Given the description of an element on the screen output the (x, y) to click on. 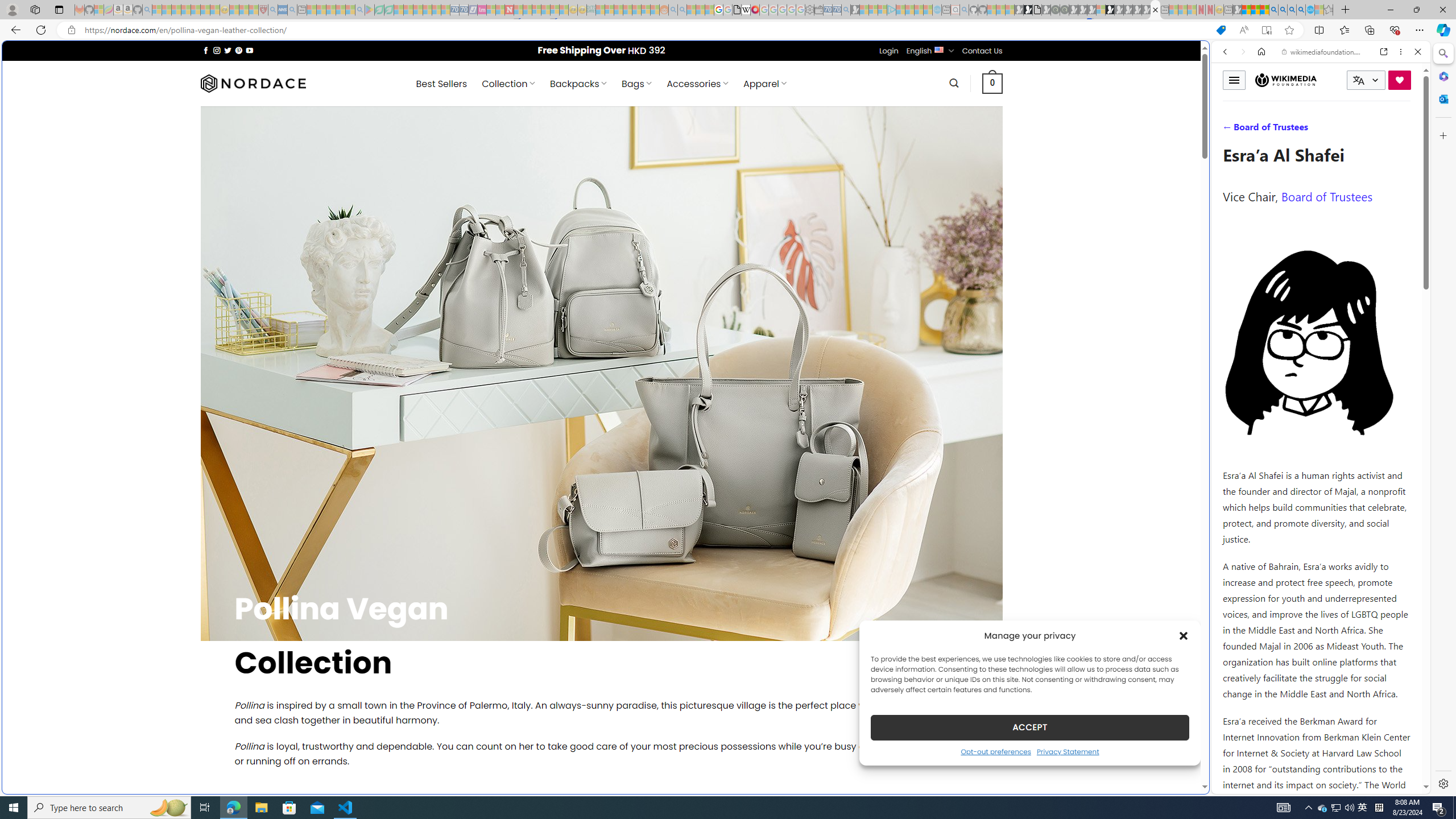
Sign in to your account - Sleeping (1100, 9)
This site has coupons! Shopping in Microsoft Edge, 4 (1220, 29)
